Given the description of an element on the screen output the (x, y) to click on. 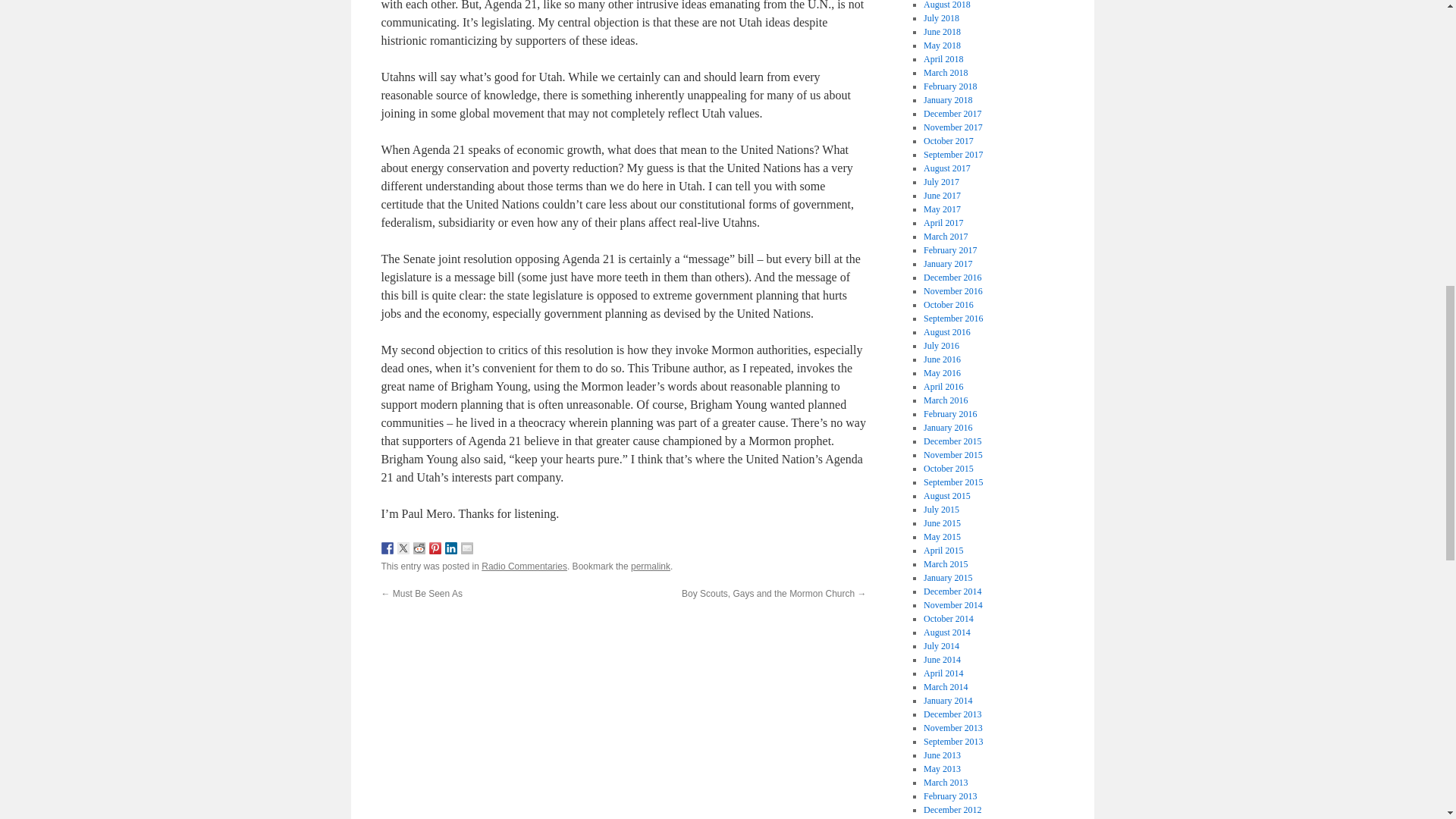
Permalink to Agenda 21 (649, 566)
Share on Facebook (386, 548)
Pin it with Pinterest (435, 548)
permalink (649, 566)
Share on Twitter (403, 548)
Radio Commentaries (524, 566)
Share on Reddit (418, 548)
Share on Linkedin (450, 548)
Share by email (467, 548)
